Given the description of an element on the screen output the (x, y) to click on. 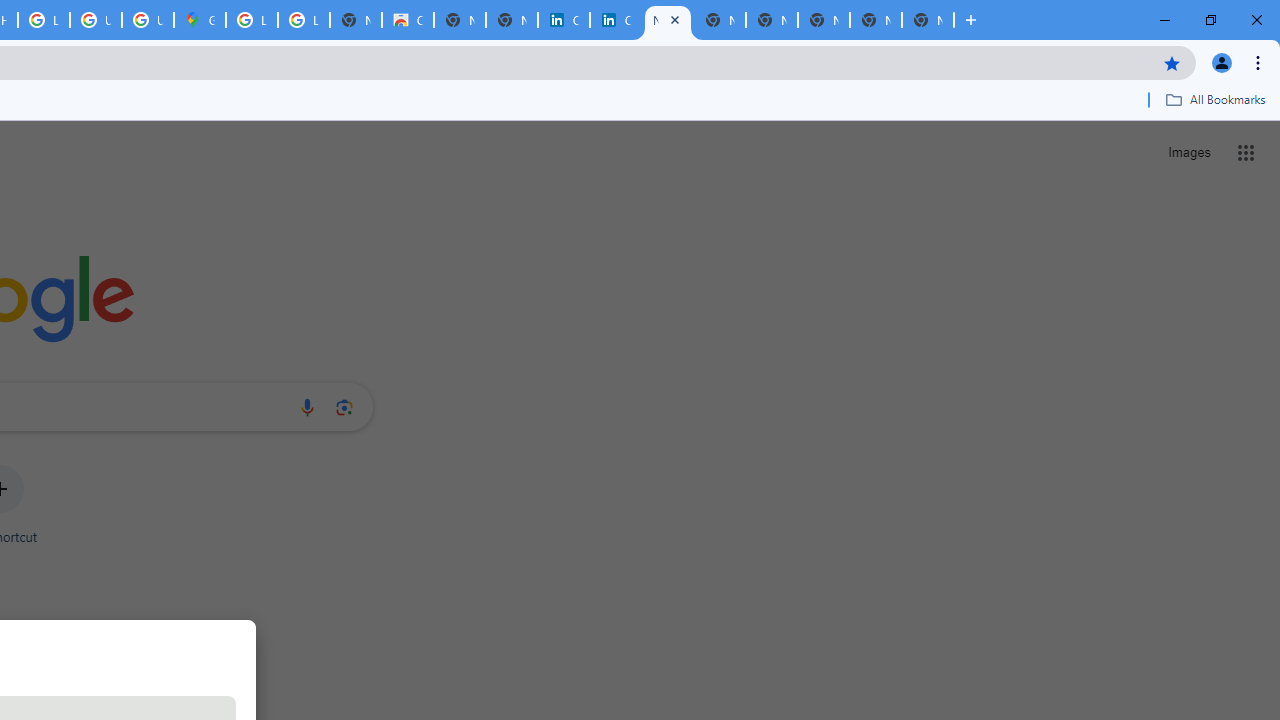
New Tab (927, 20)
Chrome Web Store (407, 20)
Google Maps (200, 20)
New Tab (823, 20)
Cookie Policy | LinkedIn (616, 20)
